Given the description of an element on the screen output the (x, y) to click on. 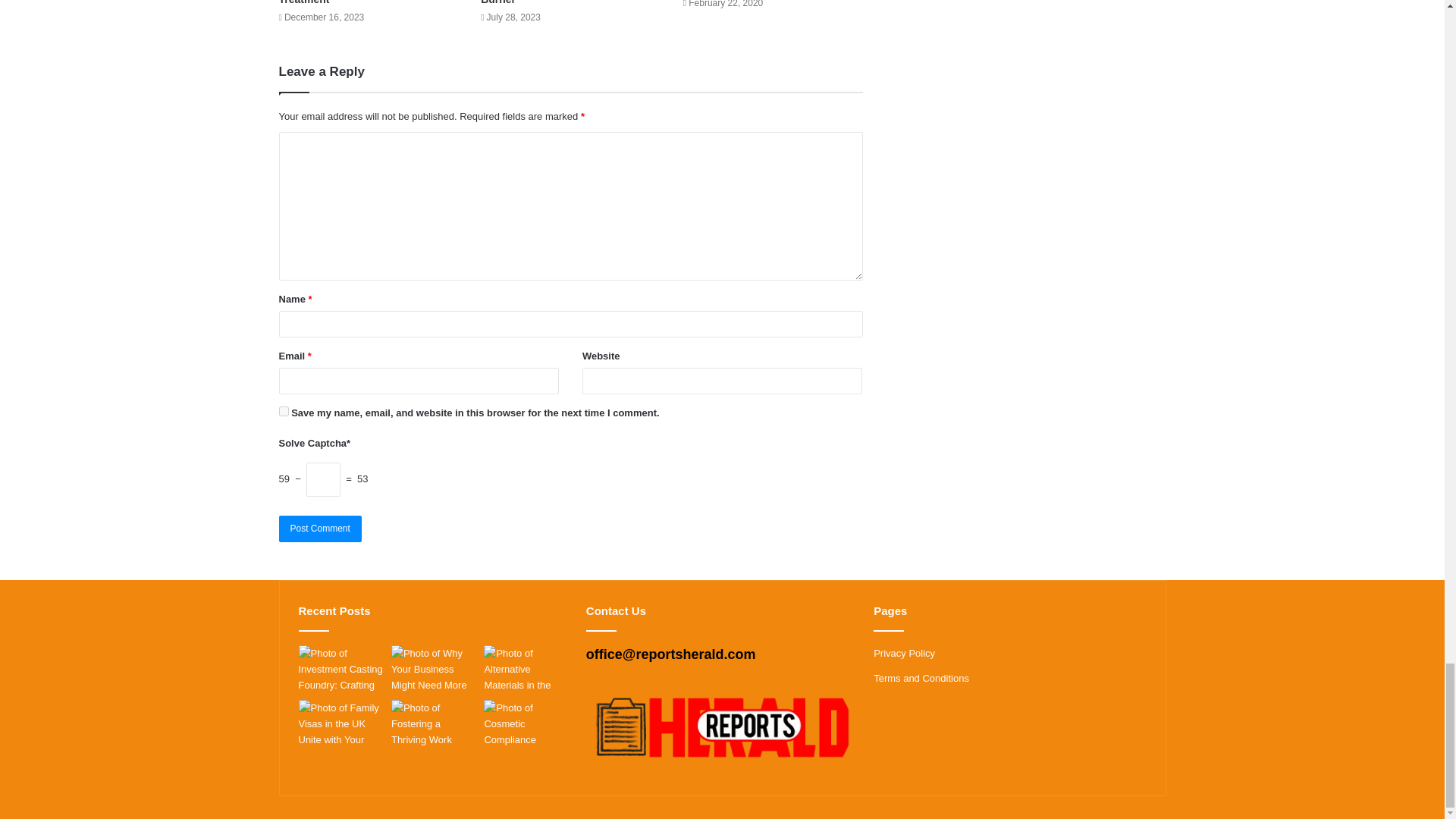
Post Comment (320, 528)
yes (283, 411)
